Given the description of an element on the screen output the (x, y) to click on. 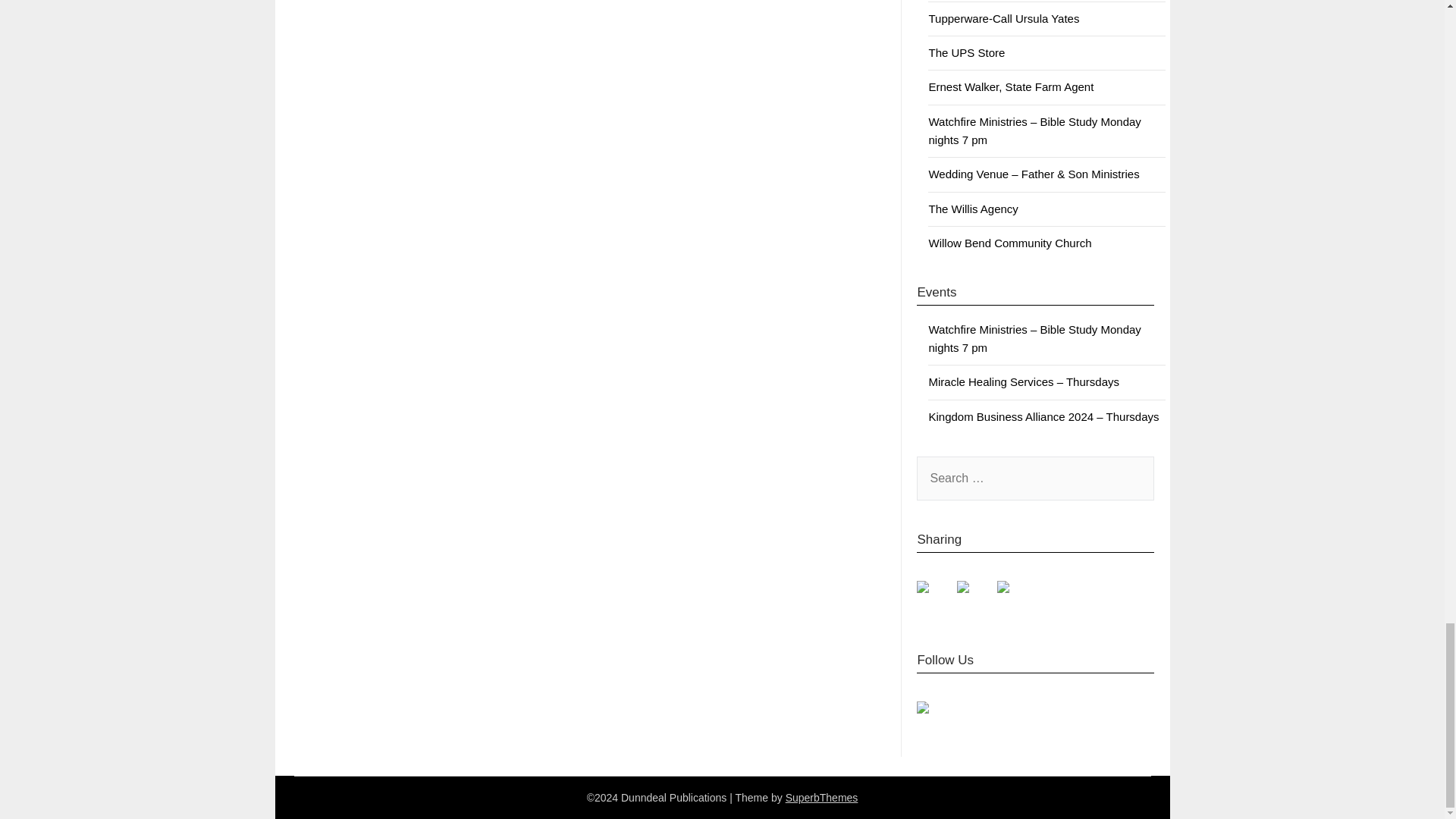
Check out our instagram feed (922, 707)
Share on Twitter (962, 586)
Share by email (1015, 598)
Share on Facebook (935, 598)
Share by email (1003, 586)
Share on Facebook (922, 586)
Share on Twitter (974, 598)
Check out our instagram feed (935, 719)
